Given the description of an element on the screen output the (x, y) to click on. 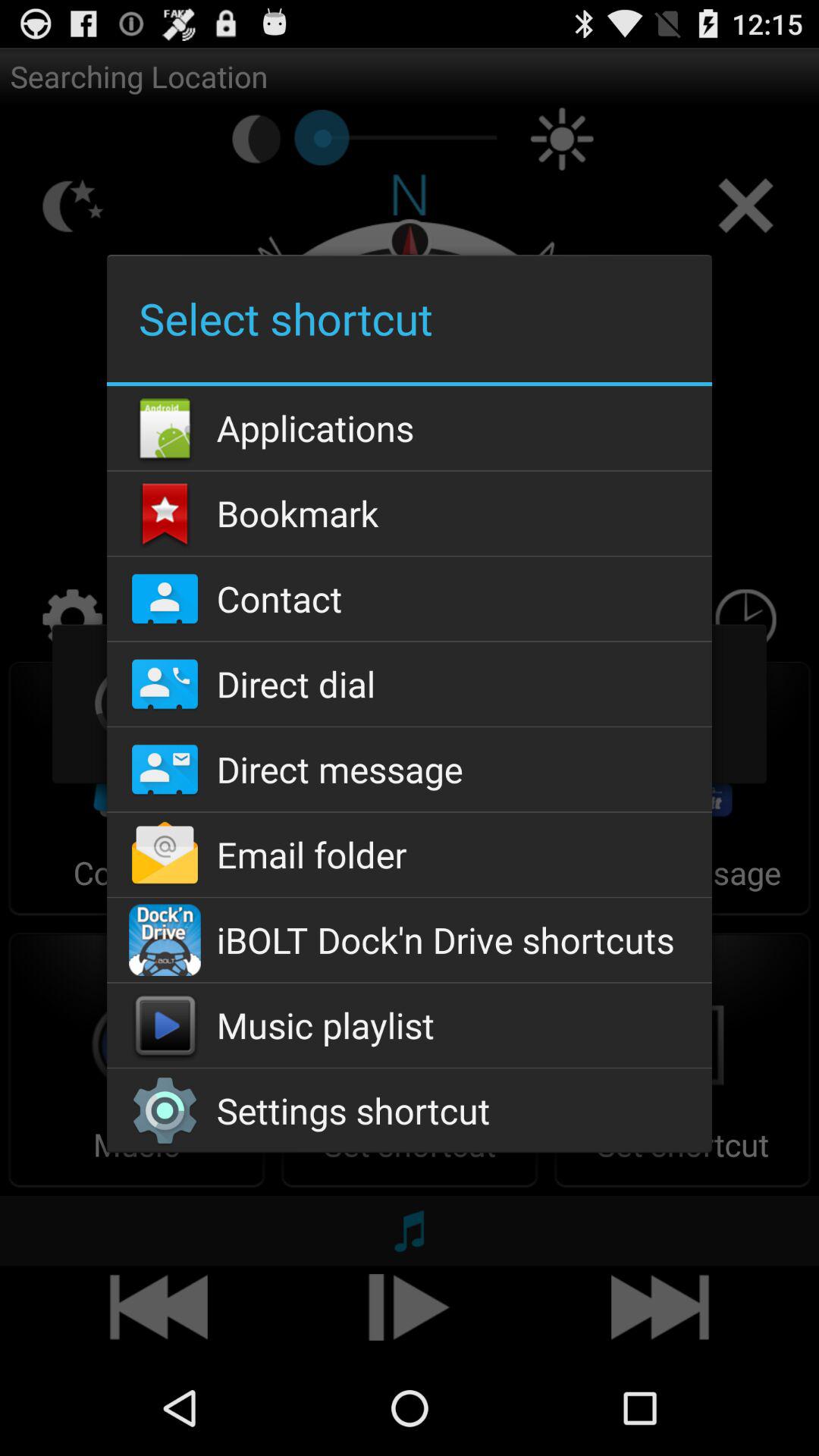
turn on item below bookmark app (409, 598)
